Given the description of an element on the screen output the (x, y) to click on. 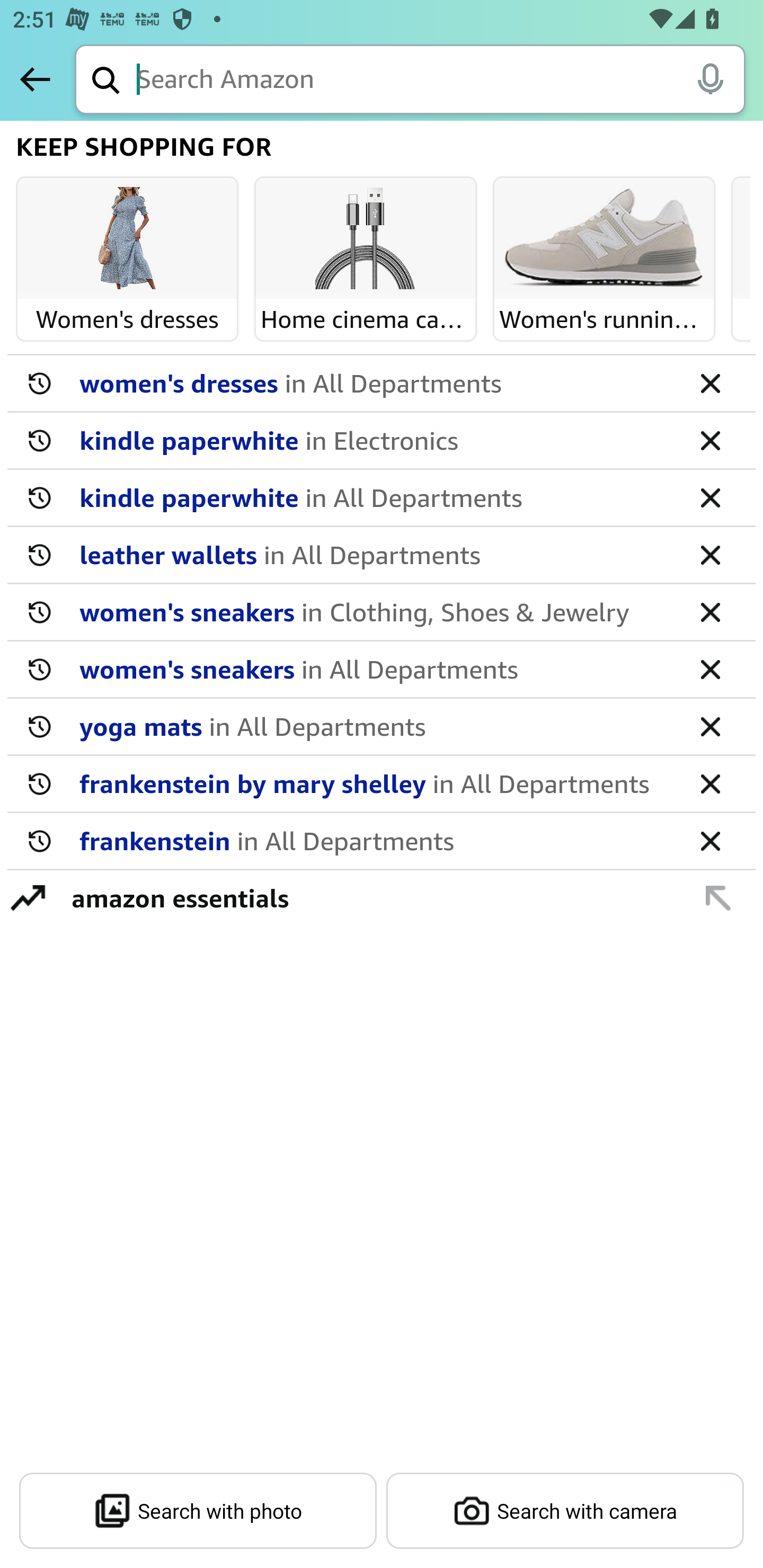
Search Amazon (440, 80)
Back (35, 78)
Alexa (710, 78)
Women's dresses (126, 238)
Home cinema cables (365, 238)
Women's running shoes (603, 238)
women's dresses delete (381, 383)
women's dresses (374, 382)
delete (710, 382)
kindle paperwhite delete (381, 440)
kindle paperwhite (374, 439)
delete (710, 439)
kindle paperwhite delete (381, 497)
kindle paperwhite (374, 496)
delete (710, 496)
leather wallets delete (381, 554)
leather wallets (374, 554)
delete (710, 554)
women's sneakers delete (381, 612)
women's sneakers (374, 611)
delete (710, 611)
women's sneakers delete (381, 669)
women's sneakers (374, 668)
delete (710, 668)
yoga mats delete (381, 726)
yoga mats (374, 725)
delete (710, 725)
frankenstein by mary shelley delete (381, 783)
frankenstein by mary shelley (374, 783)
delete (710, 783)
frankenstein delete (381, 841)
frankenstein (374, 840)
delete (710, 840)
amazon essentials append suggestion (381, 897)
amazon essentials (370, 897)
append suggestion (718, 897)
Search with photo (197, 1510)
Search with camera (564, 1510)
